Given the description of an element on the screen output the (x, y) to click on. 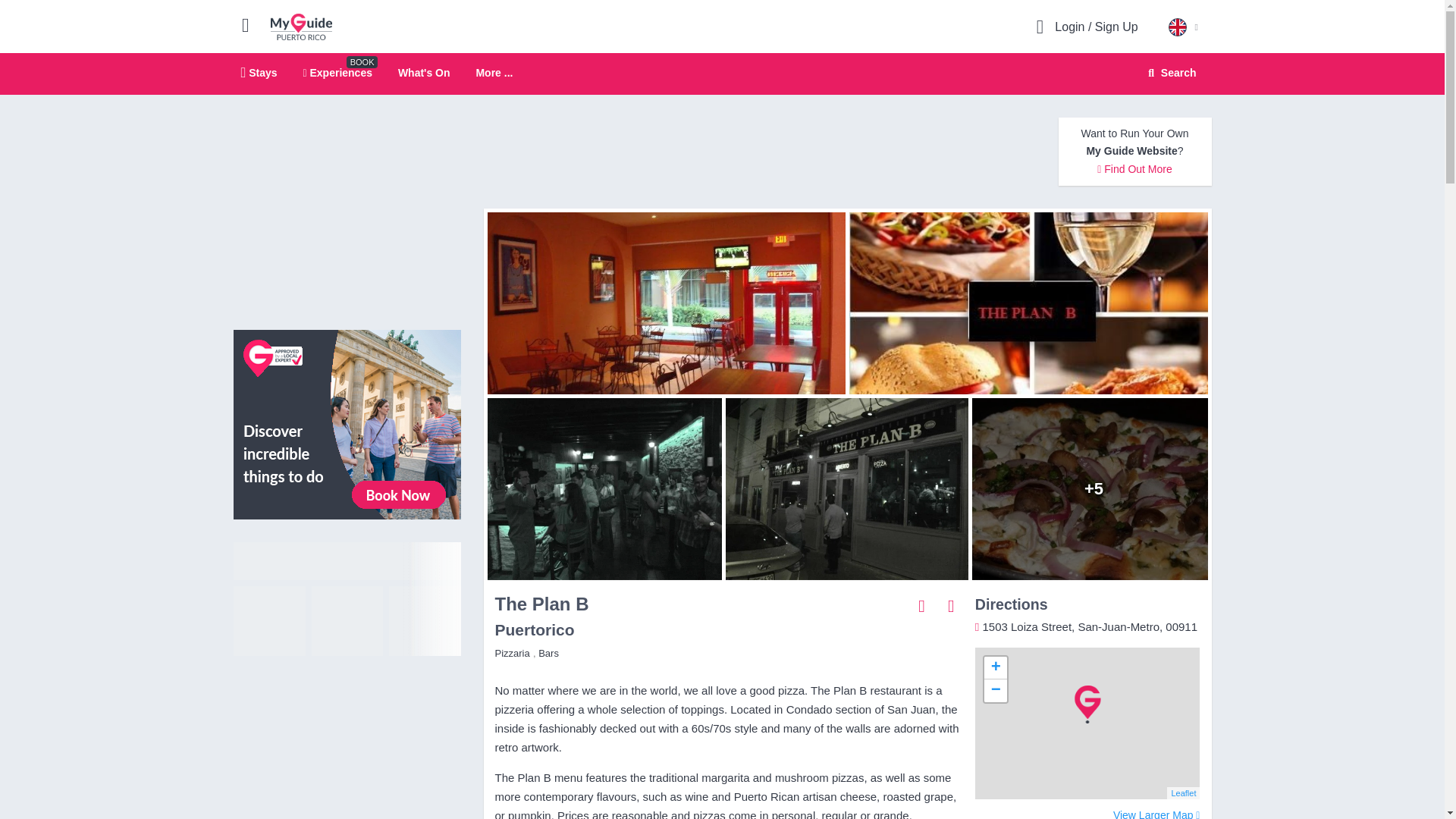
Experiences (337, 72)
Zoom in (995, 667)
The Plan B (600, 488)
The Plan B (721, 74)
More ... (846, 488)
What's On (494, 72)
The Plan B (423, 72)
View All Experiences (1093, 488)
Search (346, 423)
My Guide Puerto Rico (1169, 72)
The Plan B (300, 25)
GetYourGuide Widget (1031, 302)
Stays (346, 599)
The Plan B (259, 72)
